Given the description of an element on the screen output the (x, y) to click on. 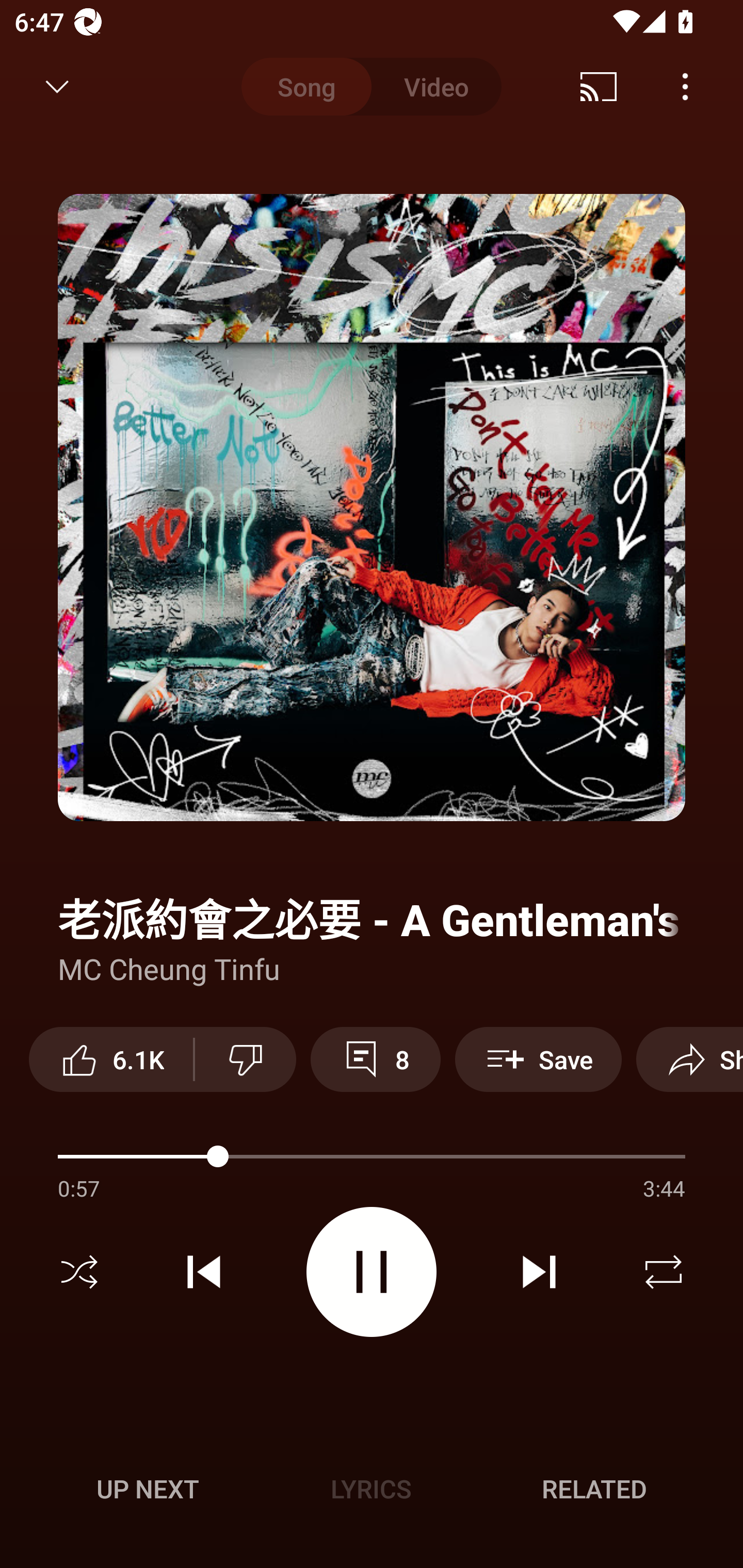
Minimize (57, 86)
Cast. Disconnected (598, 86)
Menu (684, 86)
6.1K like this video along with 6,122 other people (110, 1059)
Dislike (245, 1059)
8 View 8 comments (375, 1059)
Save Save to playlist (537, 1059)
Share (689, 1059)
Pause video (371, 1272)
Shuffle off (79, 1272)
Previous track (203, 1272)
Next track (538, 1272)
Repeat off (663, 1272)
Up next UP NEXT Lyrics LYRICS Related RELATED (371, 1491)
Lyrics LYRICS (370, 1488)
Related RELATED (594, 1488)
